Given the description of an element on the screen output the (x, y) to click on. 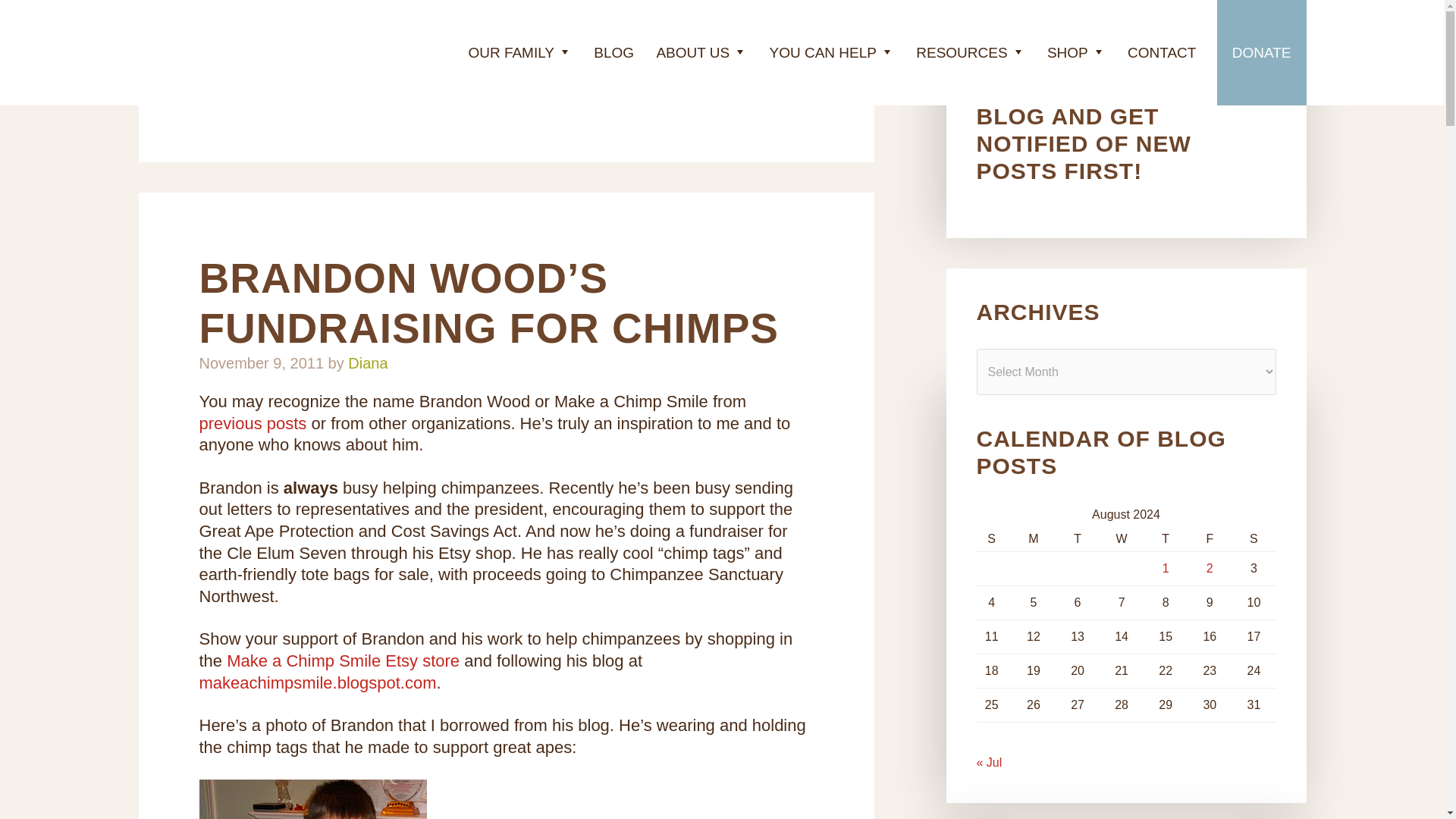
brandon (312, 799)
Chimpanzee Sanctuary Northwest (229, 54)
RESOURCES (970, 52)
Make a Chimp Smile etsy store (343, 660)
YOU CAN HELP (831, 52)
ABOUT US (700, 52)
OUR FAMILY (519, 52)
brandon's care package (251, 423)
brandon's blog (316, 682)
